Given the description of an element on the screen output the (x, y) to click on. 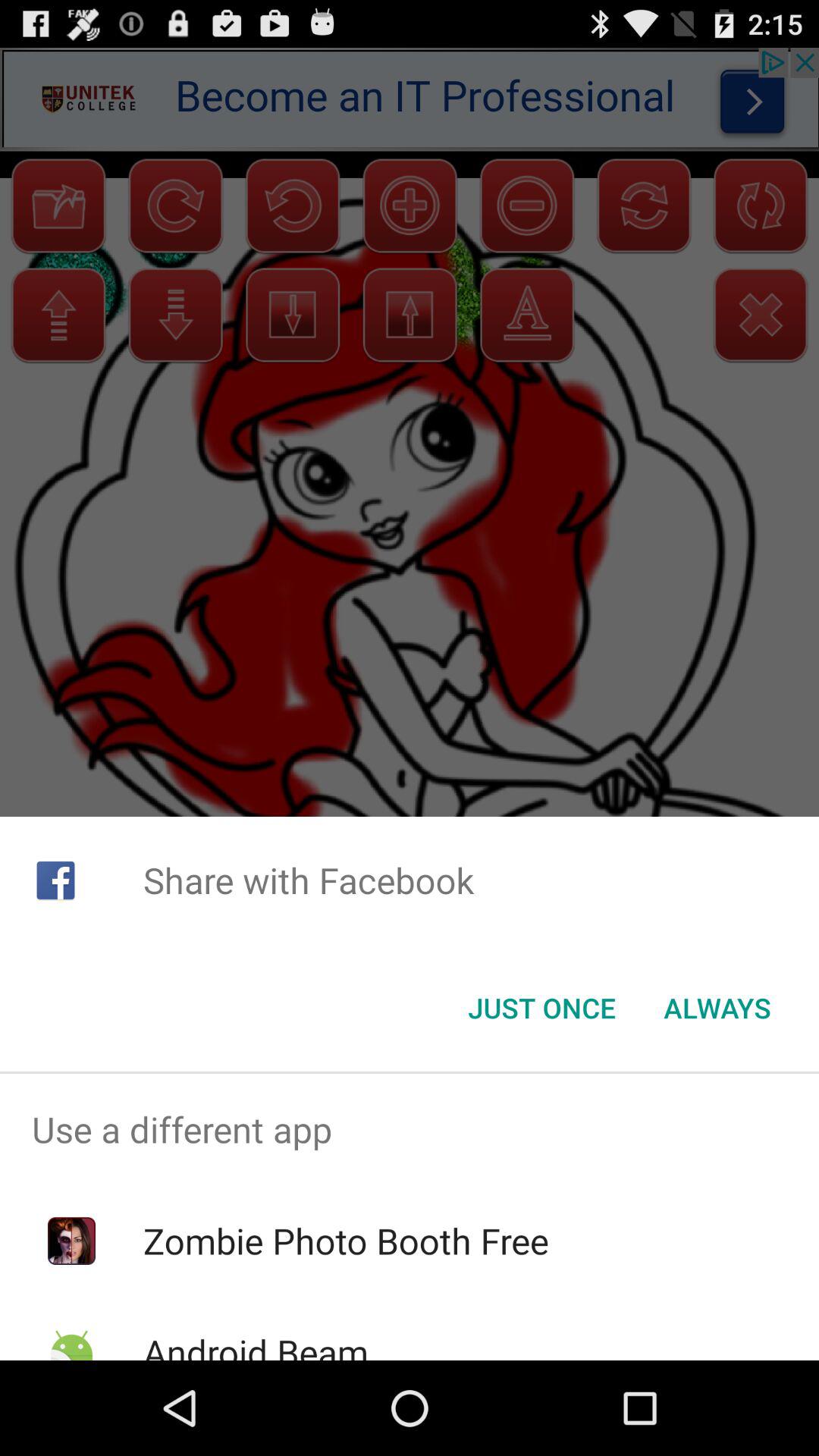
click the item below the share with facebook app (541, 1007)
